Given the description of an element on the screen output the (x, y) to click on. 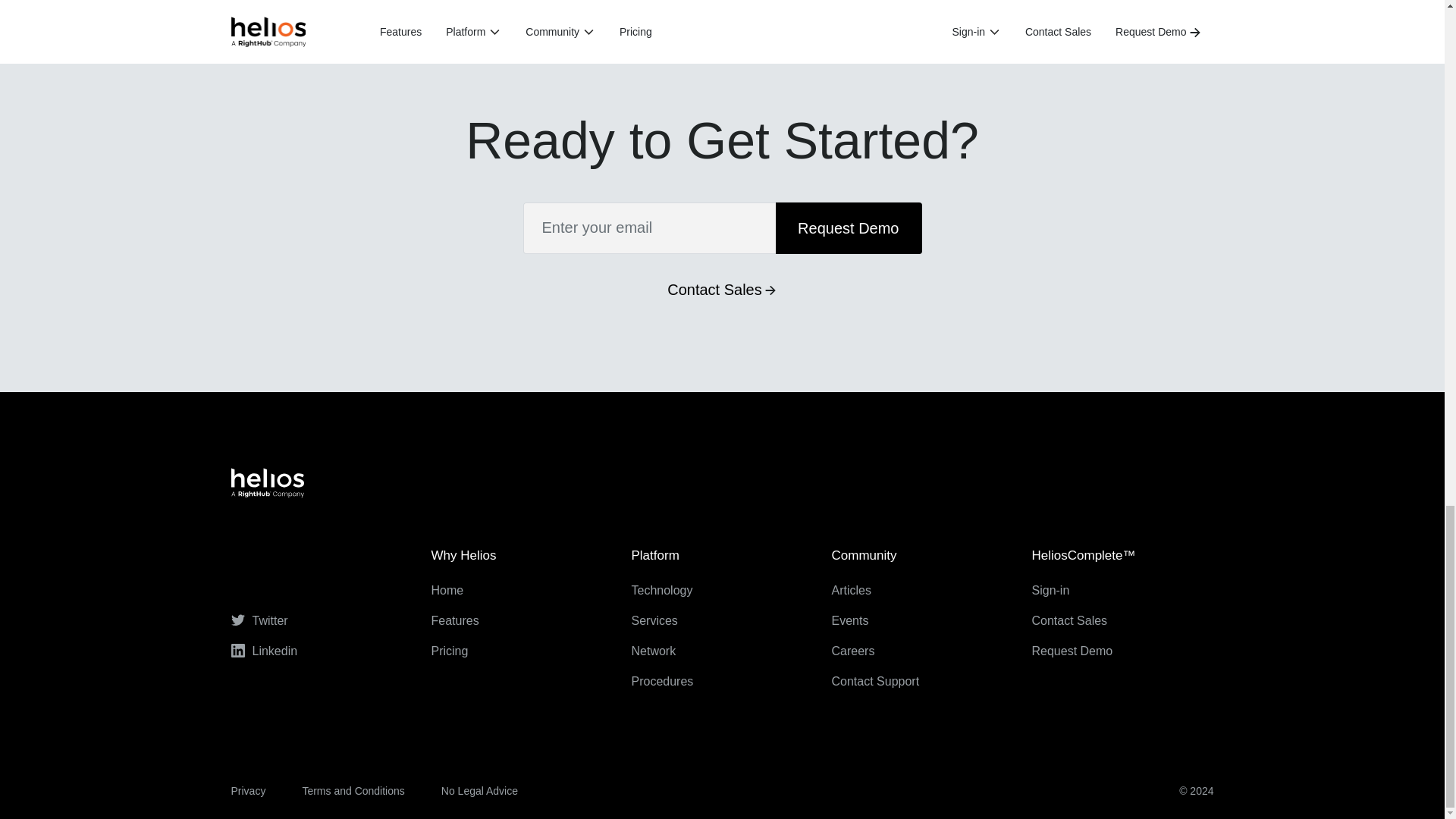
Features (454, 620)
Technology (661, 590)
Network (652, 650)
Contact Sales (721, 289)
Request Demo (847, 227)
Events (849, 620)
Twitter (258, 620)
Linkedin (263, 650)
Services (653, 620)
Procedures (661, 680)
Home (446, 590)
Careers (853, 650)
Articles (850, 590)
Pricing (448, 650)
